Given the description of an element on the screen output the (x, y) to click on. 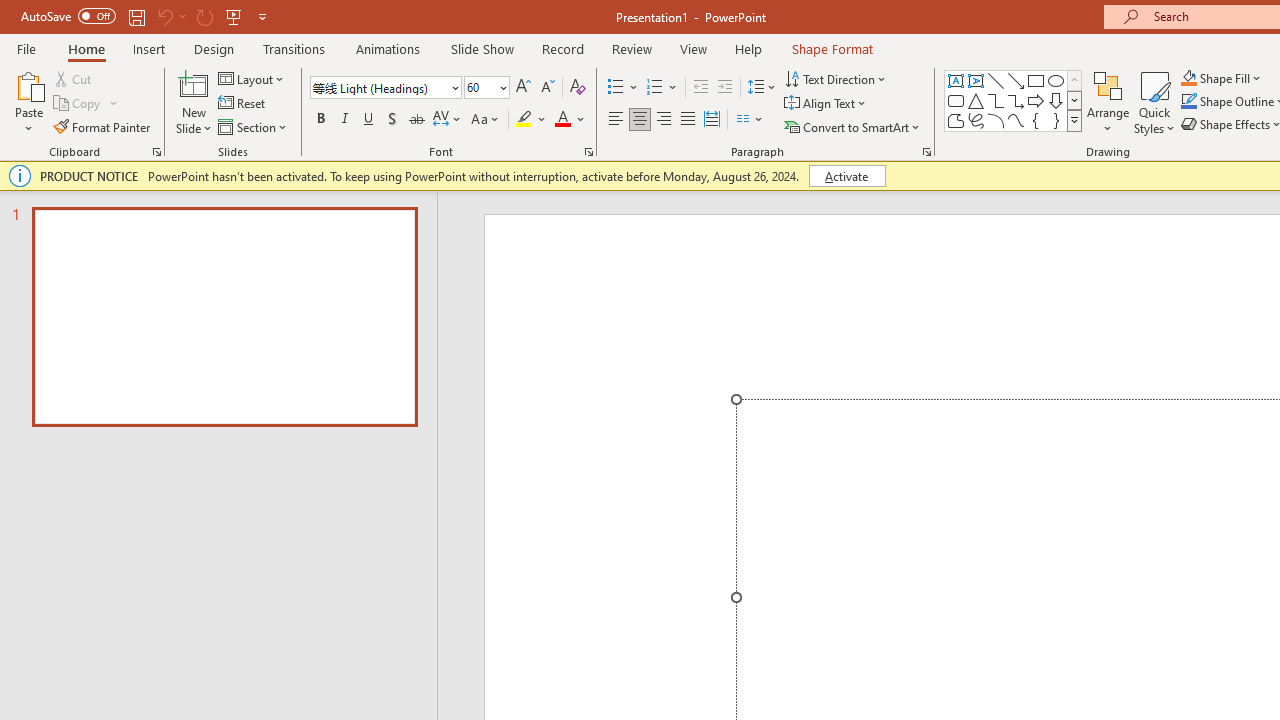
Increase Font Size (522, 87)
Align Left (616, 119)
File Tab (26, 48)
Line (995, 80)
Format Painter (103, 126)
View (693, 48)
Customize Quick Access Toolbar (262, 15)
Curve (1016, 120)
Left Brace (1035, 120)
Text Highlight Color Yellow (524, 119)
Text Box (955, 80)
Clear Formatting (577, 87)
New Slide (193, 84)
Font... (588, 151)
